Given the description of an element on the screen output the (x, y) to click on. 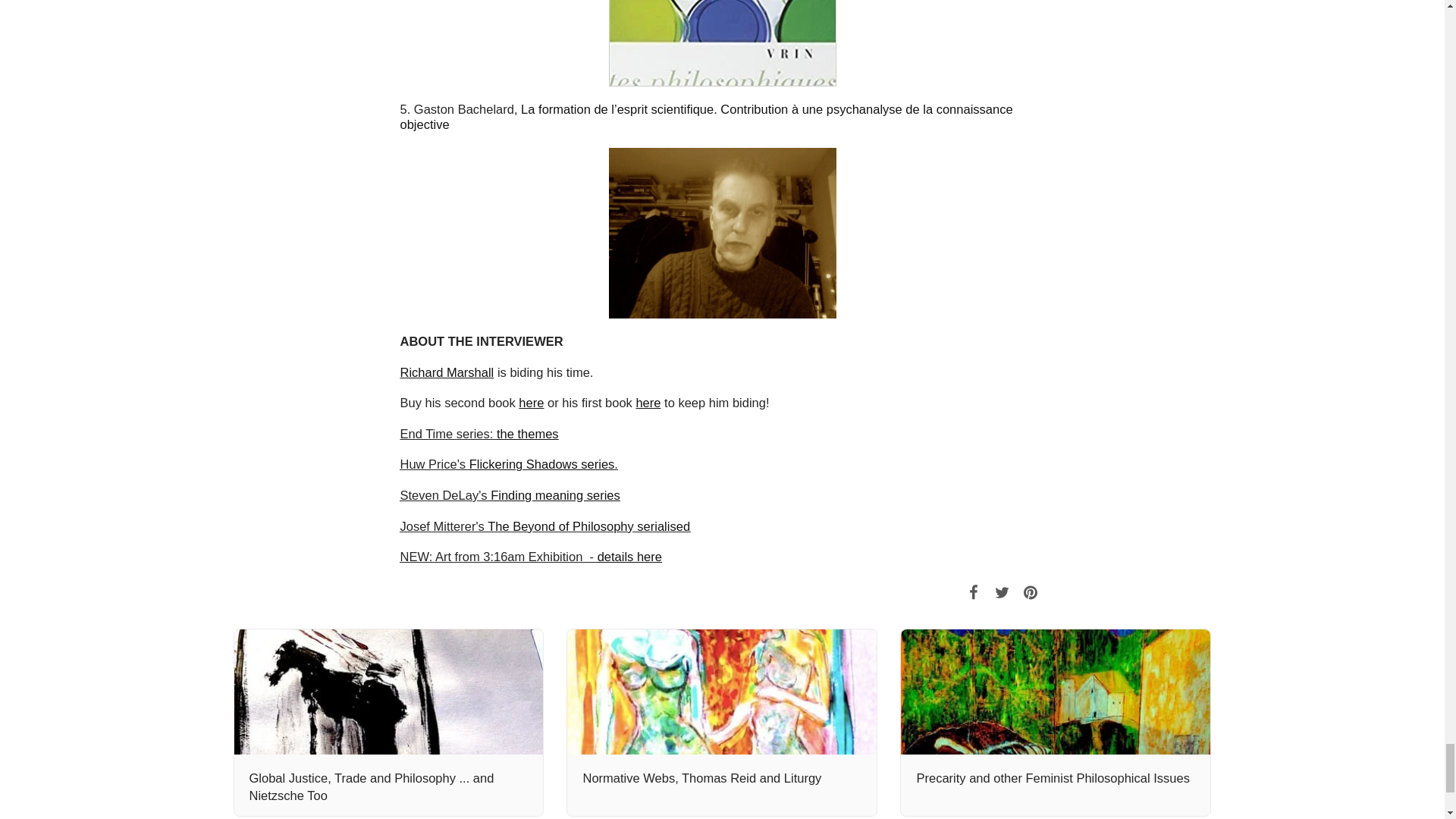
Share on Facebook (973, 591)
here (647, 402)
Tweet (1002, 591)
the themes (527, 433)
Flickering Shadows series (541, 463)
here (530, 402)
Pin it (1029, 591)
Richard Marshall (447, 372)
